Given the description of an element on the screen output the (x, y) to click on. 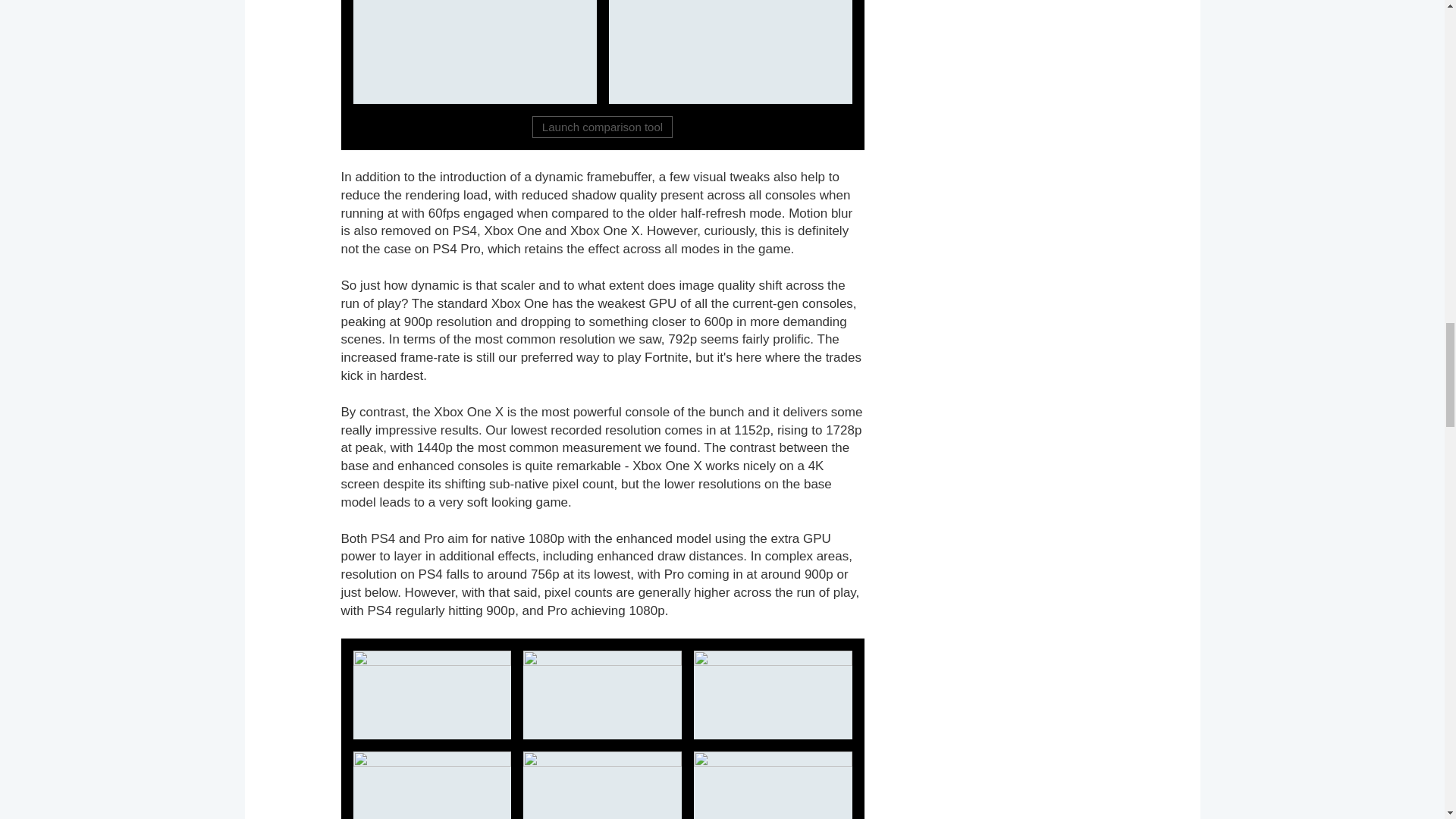
Launch comparison tool (602, 127)
